Given the description of an element on the screen output the (x, y) to click on. 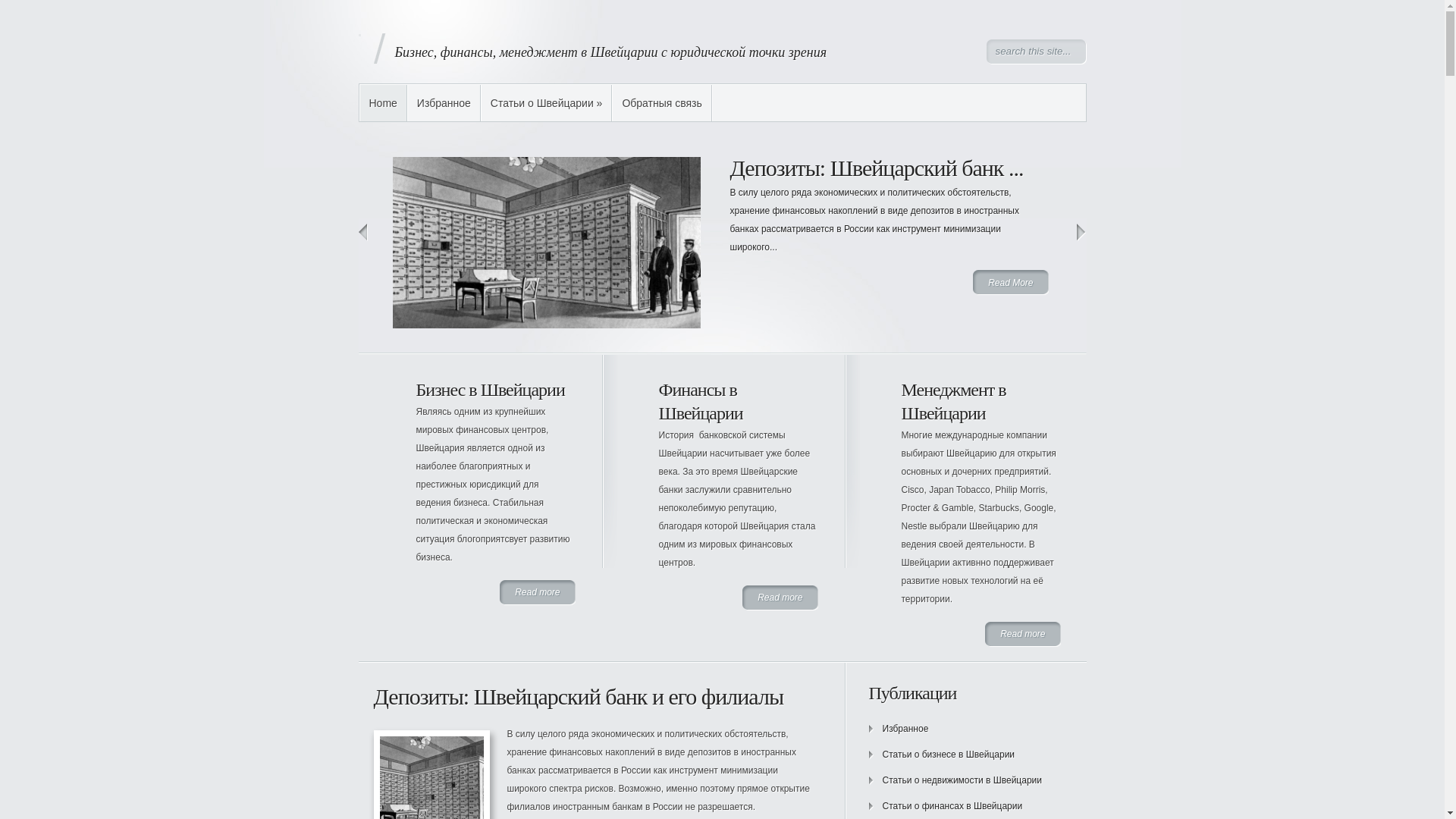
Read more Element type: text (536, 592)
Read more Element type: text (779, 598)
Home Element type: text (382, 102)
Read more Element type: text (1022, 634)
Previous Element type: text (362, 232)
Read More Element type: text (1010, 282)
Next Element type: text (1081, 232)
